Given the description of an element on the screen output the (x, y) to click on. 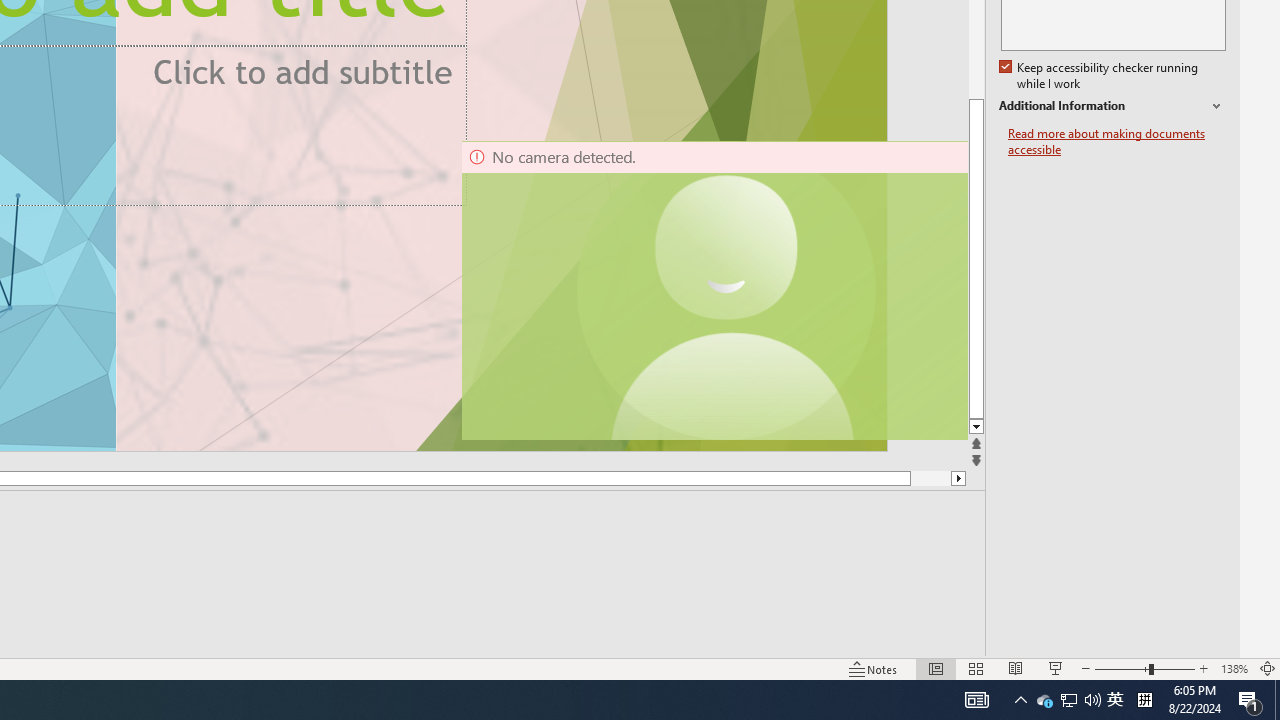
Camera 11, No camera detected. (727, 290)
Camera 14, No camera detected. (713, 290)
Zoom 138% (1234, 668)
